Given the description of an element on the screen output the (x, y) to click on. 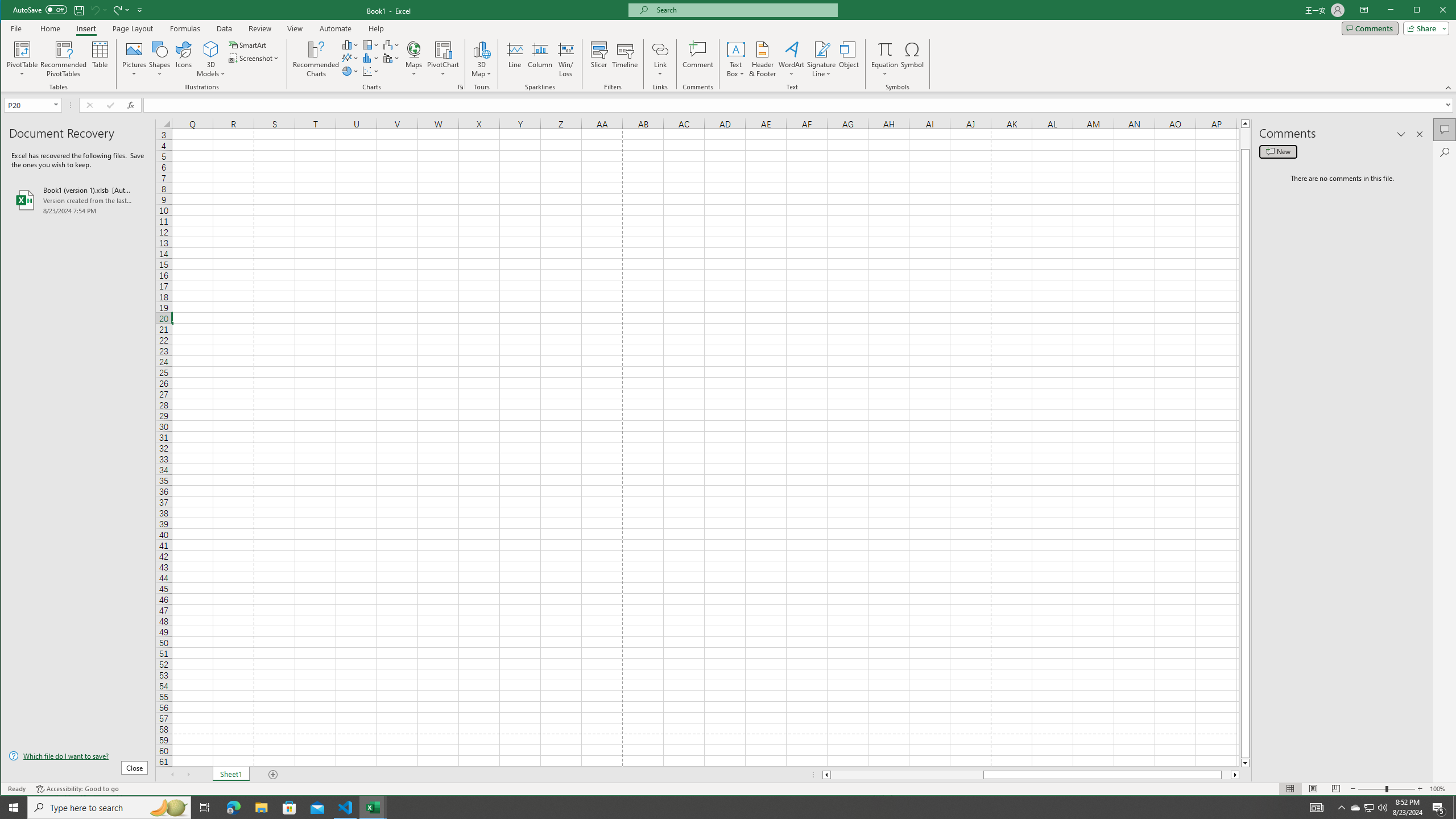
Insert Combo Chart (1355, 807)
Insert Waterfall, Funnel, Stock, Surface, or Radar Chart (391, 57)
Type here to search (391, 44)
Close pane (108, 807)
Signature Line (1419, 133)
Search highlights icon opens search home window (821, 48)
3D Map (167, 807)
